Given the description of an element on the screen output the (x, y) to click on. 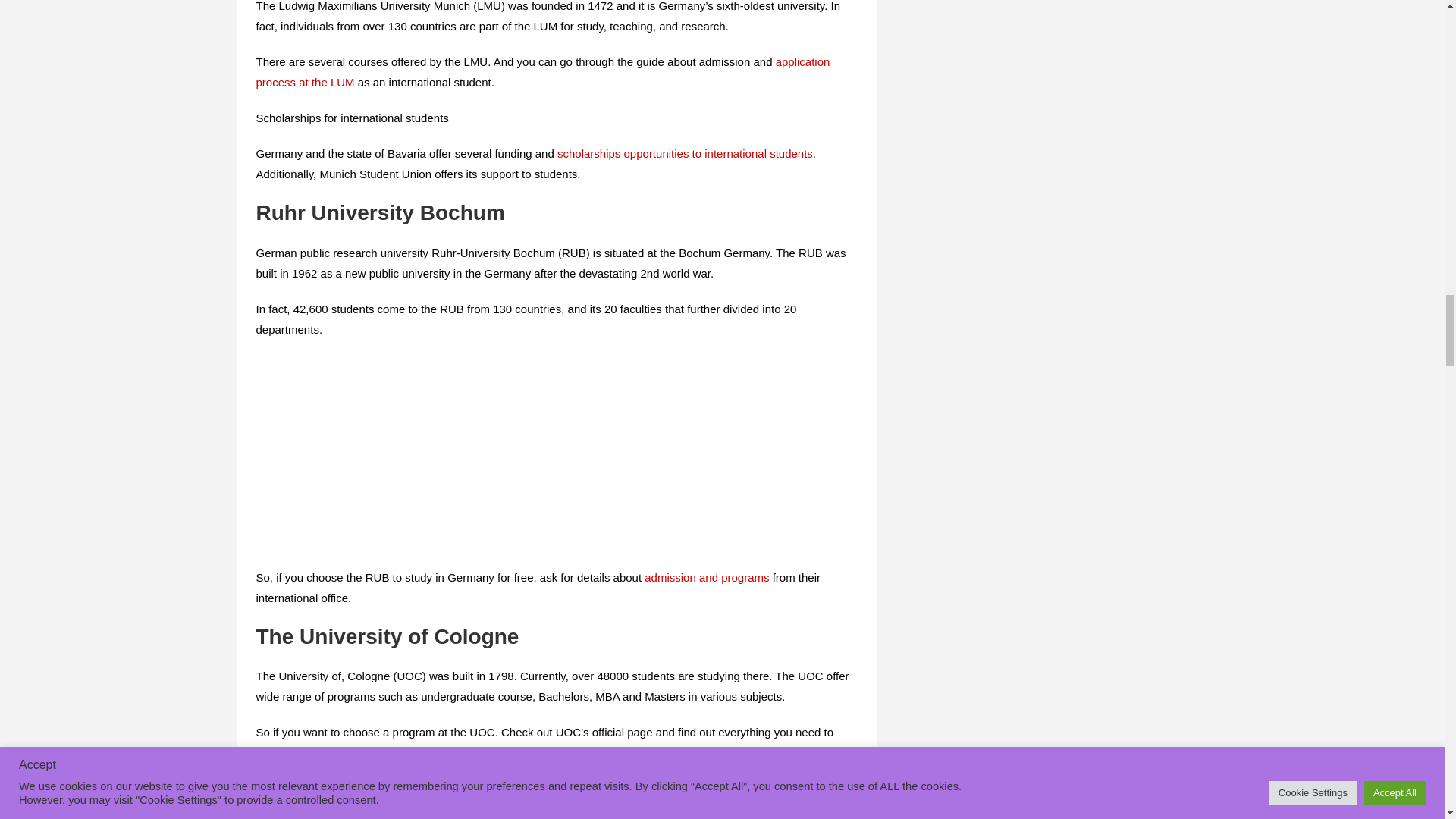
scholarships opportunities to international students (684, 153)
admission and programs (706, 576)
application process at the LUM (542, 71)
applying, registering, and admission (407, 752)
